Given the description of an element on the screen output the (x, y) to click on. 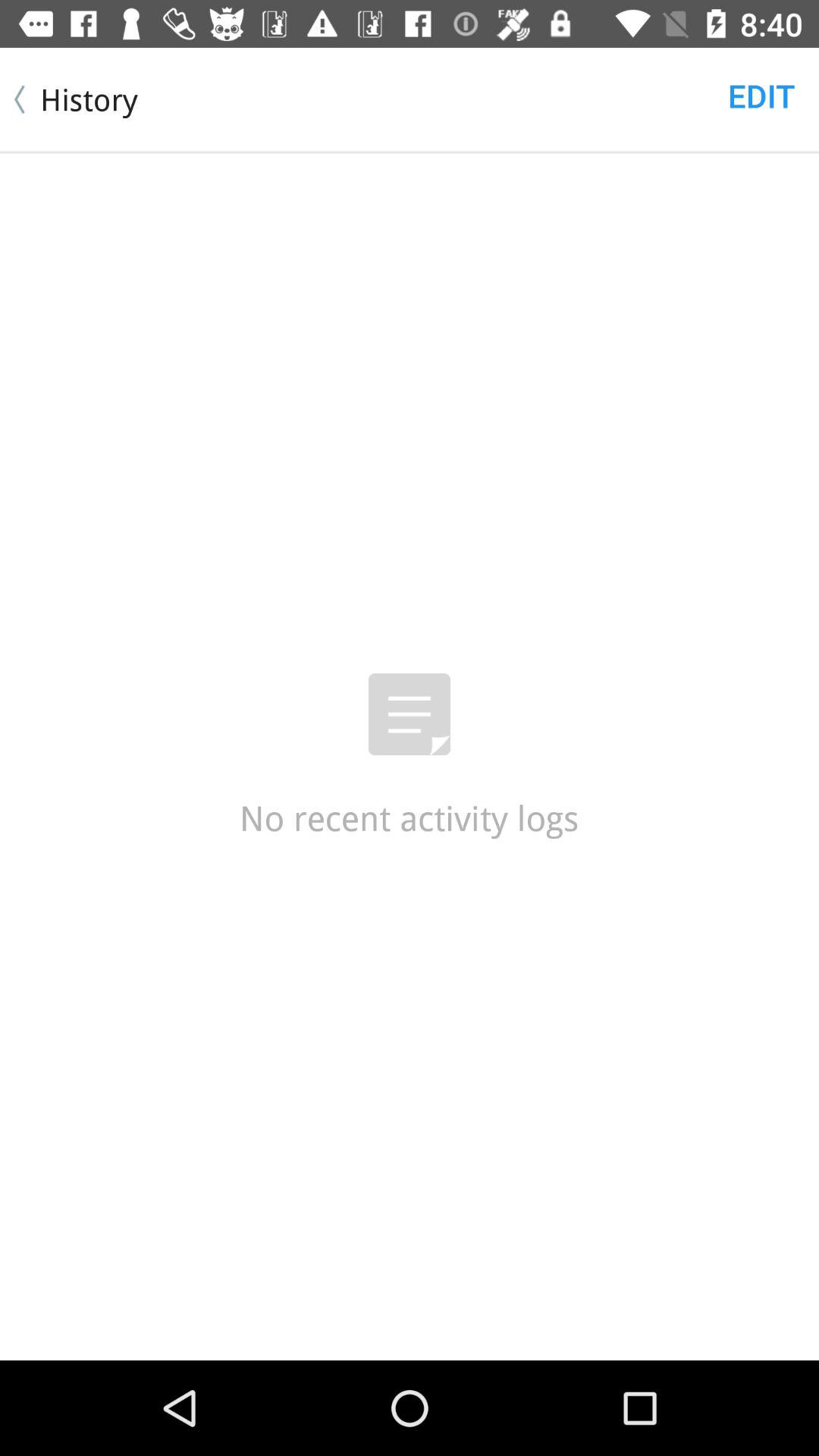
turn off the item at the top right corner (761, 95)
